Given the description of an element on the screen output the (x, y) to click on. 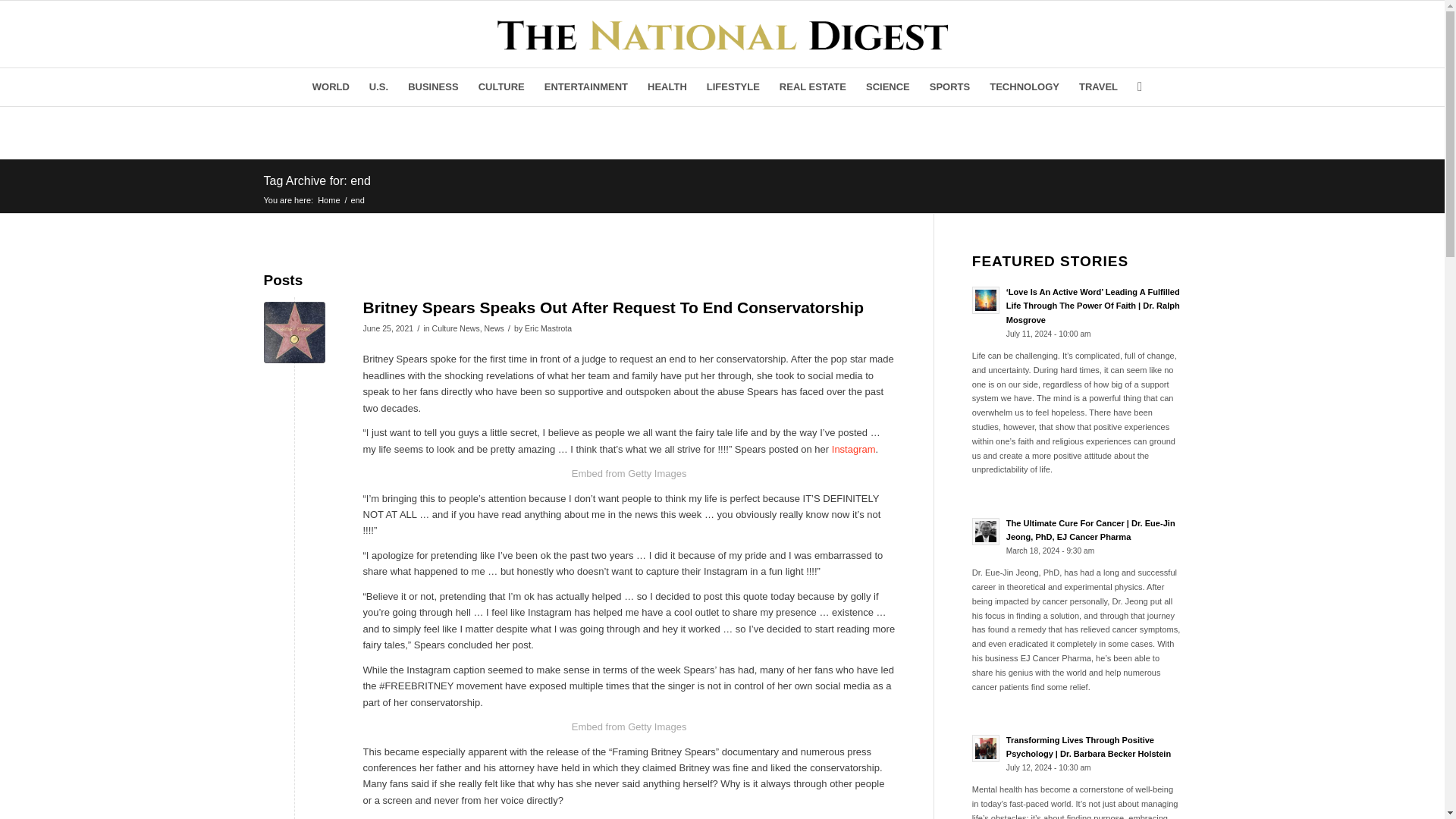
Posts by Eric Mastrota (548, 327)
Permanent Link: Tag Archive for: end (317, 180)
Britney Spears Star (293, 332)
REAL ESTATE (813, 86)
U.S. (378, 86)
Home (328, 199)
WORLD (330, 86)
ENTERTAINMENT (585, 86)
Embed from Getty Images (629, 473)
News (493, 327)
Embed from Getty Images (629, 726)
SCIENCE (888, 86)
The National Digest (328, 199)
TRAVEL (1097, 86)
